Given the description of an element on the screen output the (x, y) to click on. 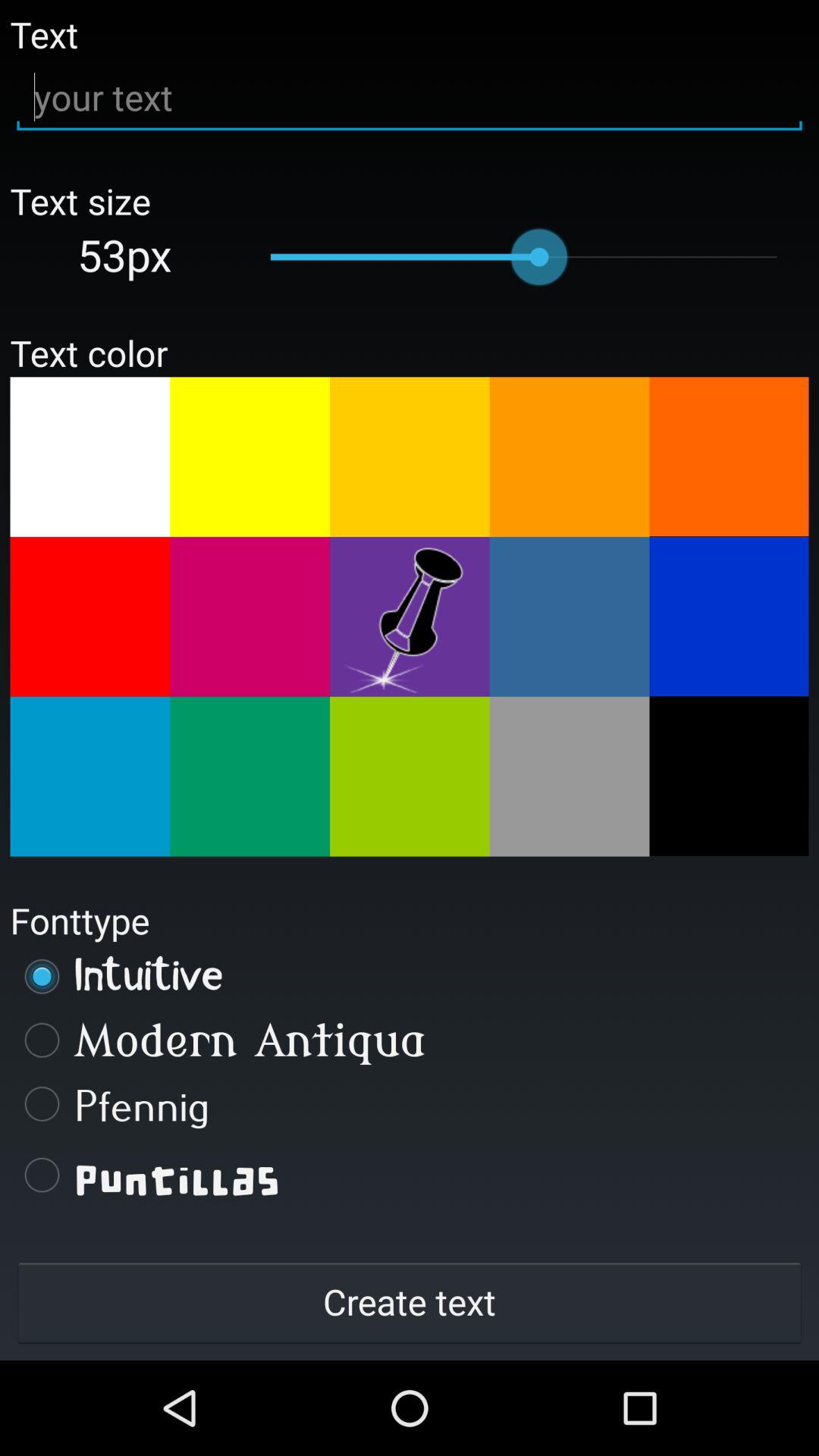
choose color (249, 456)
